Given the description of an element on the screen output the (x, y) to click on. 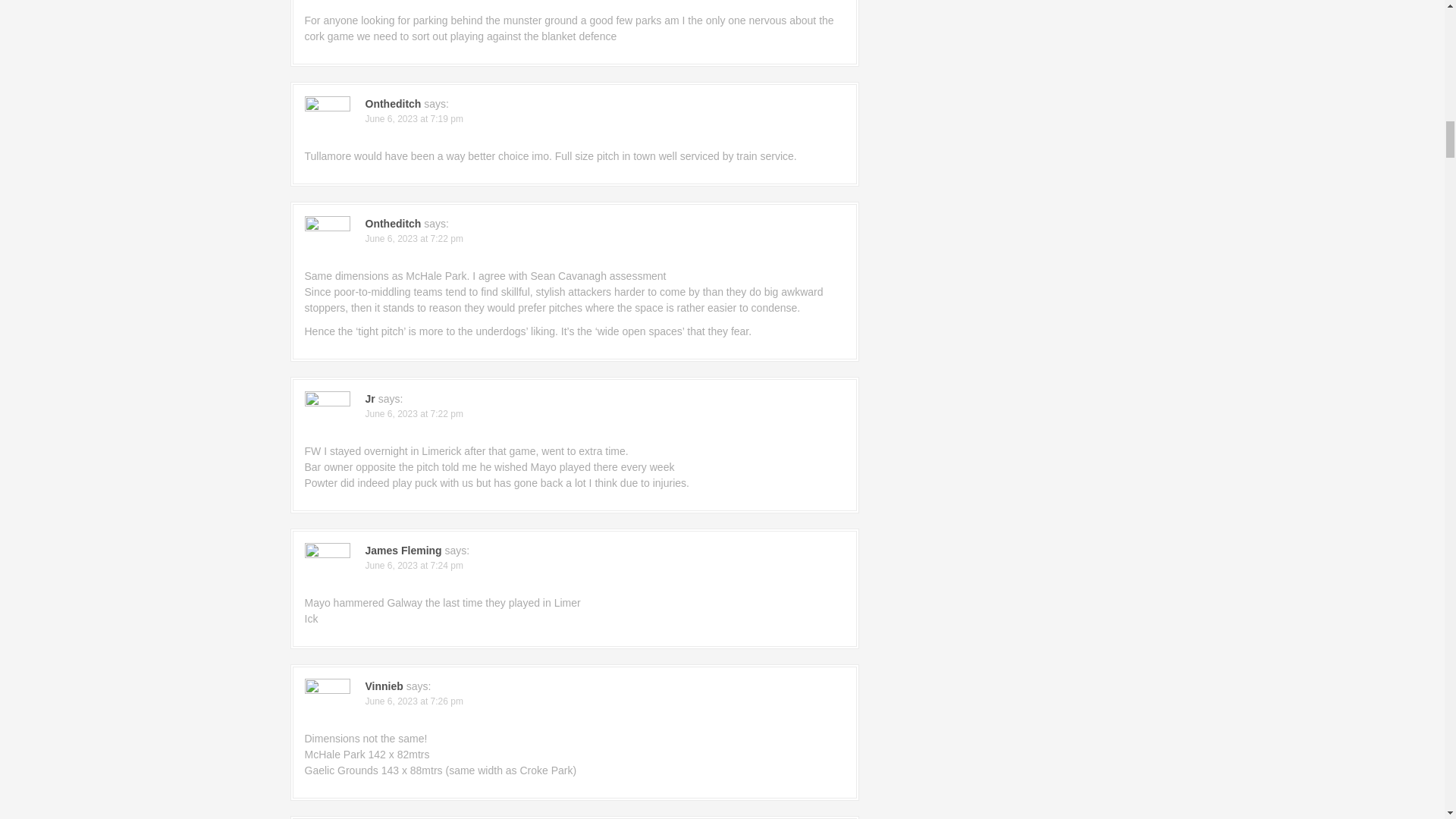
June 6, 2023 at 7:26 pm (414, 701)
June 6, 2023 at 7:19 pm (414, 118)
June 6, 2023 at 7:24 pm (414, 565)
June 6, 2023 at 7:22 pm (414, 413)
June 6, 2023 at 7:22 pm (414, 238)
